Given the description of an element on the screen output the (x, y) to click on. 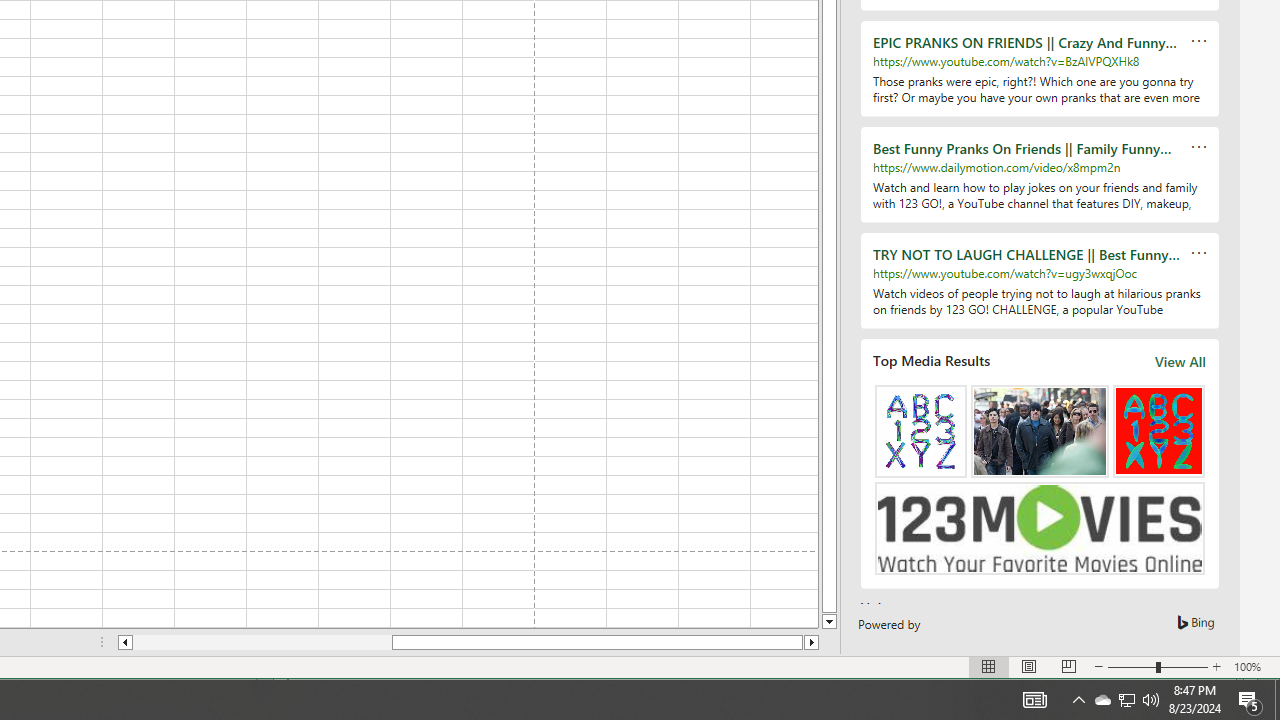
User Promoted Notification Area (1126, 699)
Show desktop (1277, 699)
Notification Chevron (1126, 699)
Page left (1078, 699)
Q2790: 100% (1102, 699)
